Given the description of an element on the screen output the (x, y) to click on. 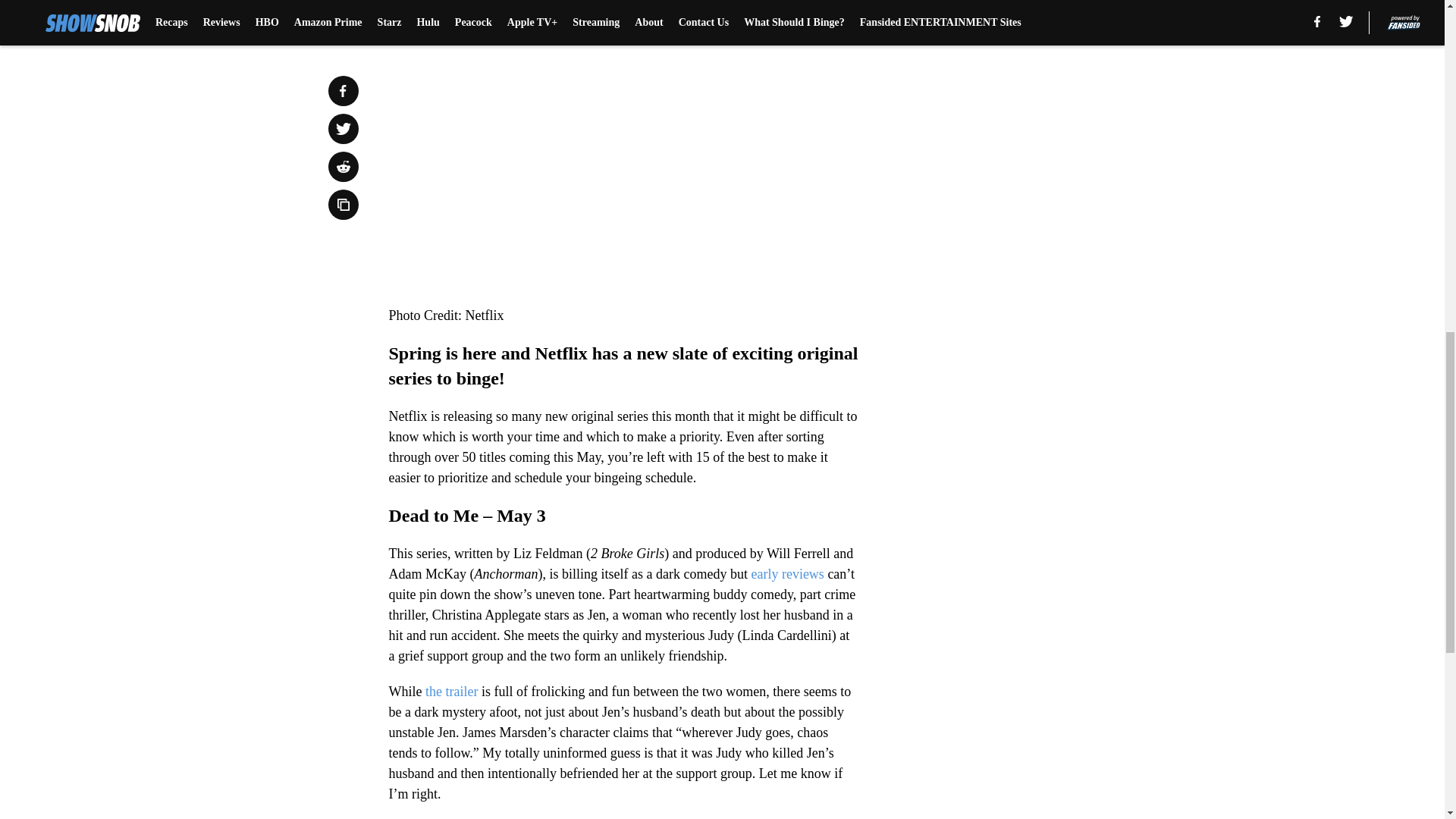
early reviews (787, 573)
Next (813, 5)
the trailer (449, 691)
Prev (433, 5)
